Given the description of an element on the screen output the (x, y) to click on. 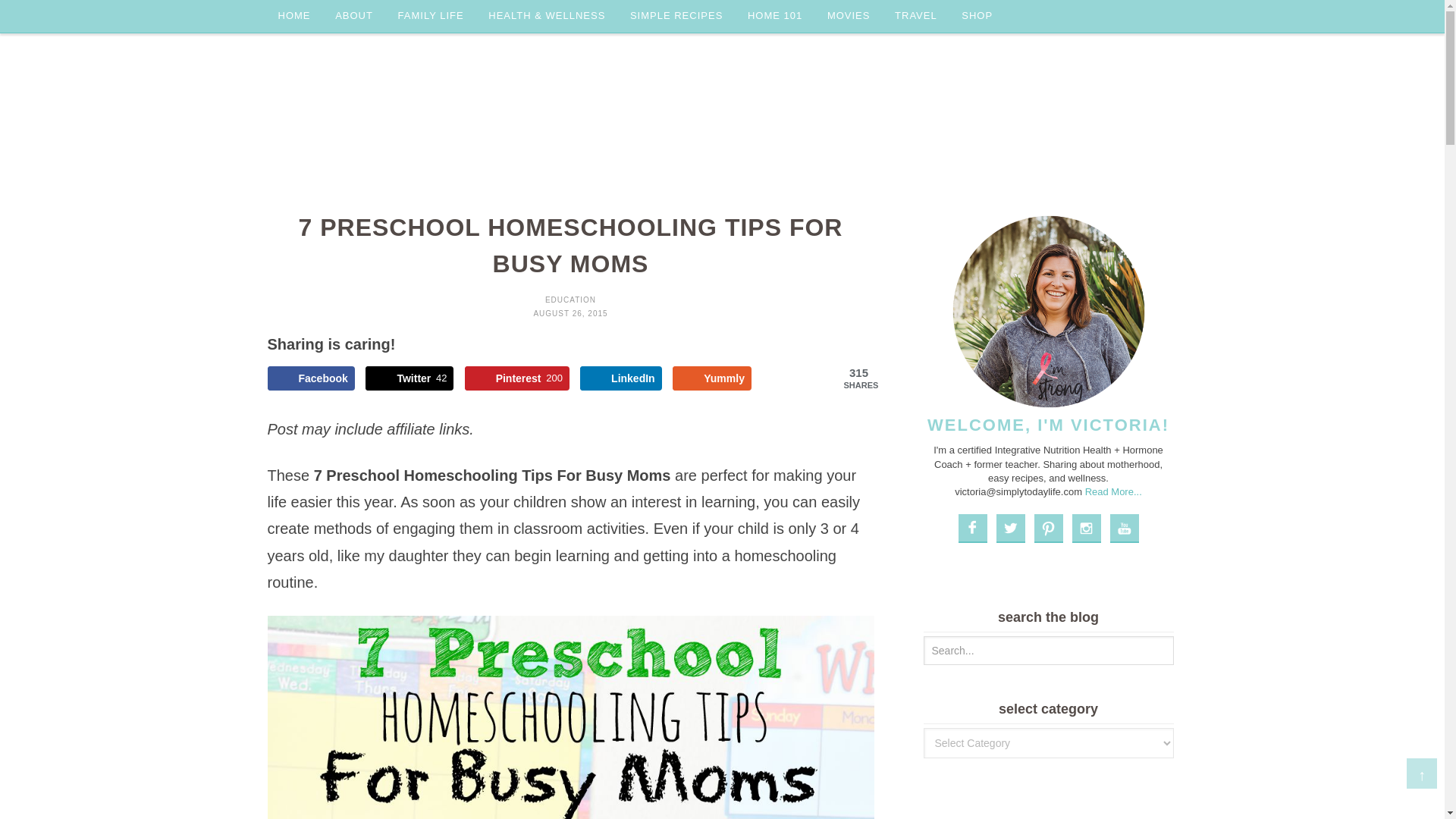
HOME 101 (774, 16)
ABOUT (354, 16)
FAMILY LIFE (430, 16)
Share on Yummly (711, 377)
Save to Pinterest (516, 377)
Share on X (408, 377)
TRAVEL (915, 16)
MOVIES (848, 16)
Share on LinkedIn (620, 377)
SIMPLE RECIPES (676, 16)
